Given the description of an element on the screen output the (x, y) to click on. 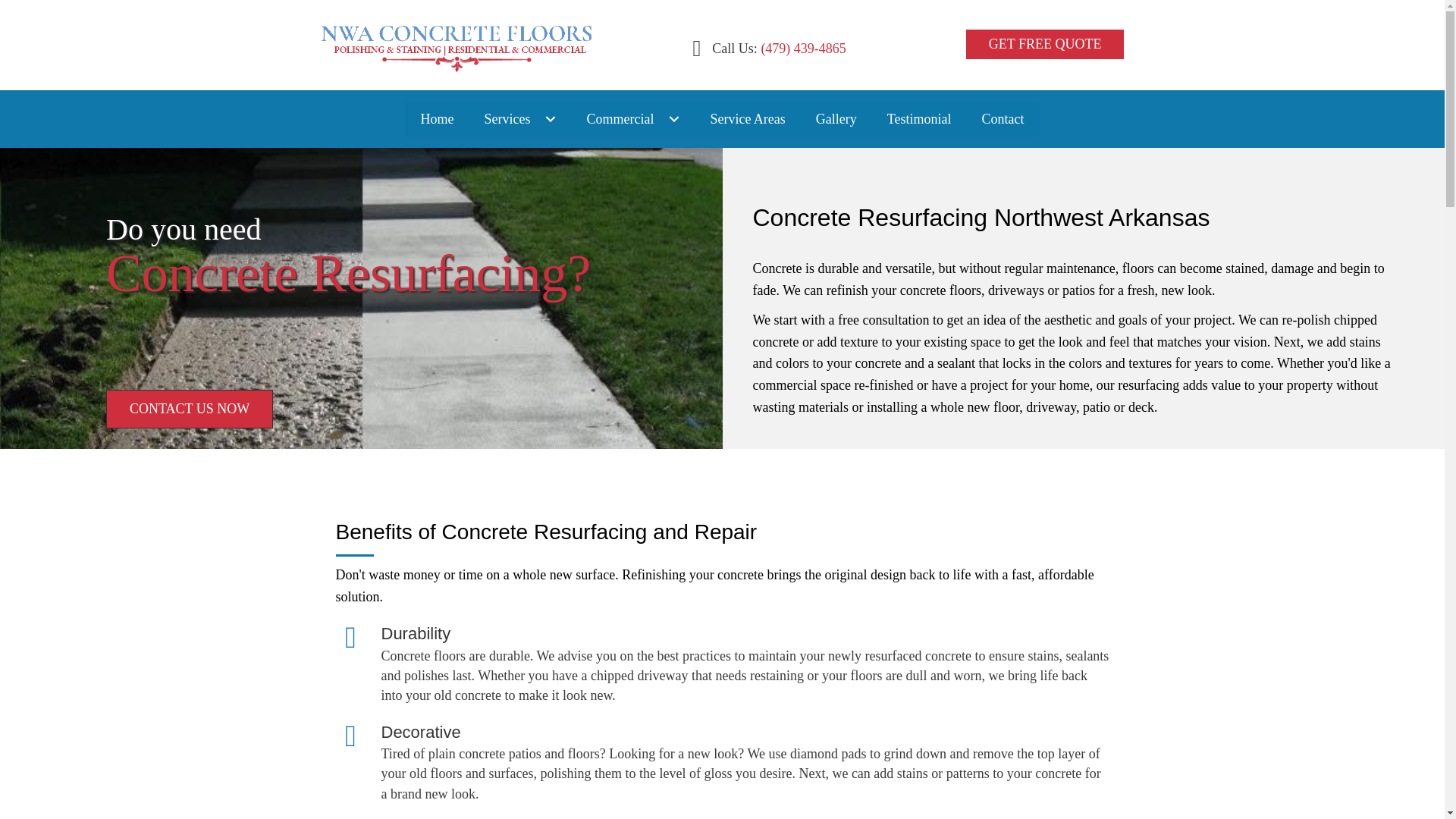
LOGO-long-nwa-concrete-floors (456, 45)
Commercial (632, 118)
Services (519, 118)
Contact (1002, 118)
Testimonial (919, 118)
Service Areas (746, 118)
Gallery (836, 118)
GET FREE QUOTE (1045, 43)
CONTACT US NOW (189, 408)
Home (436, 118)
